Given the description of an element on the screen output the (x, y) to click on. 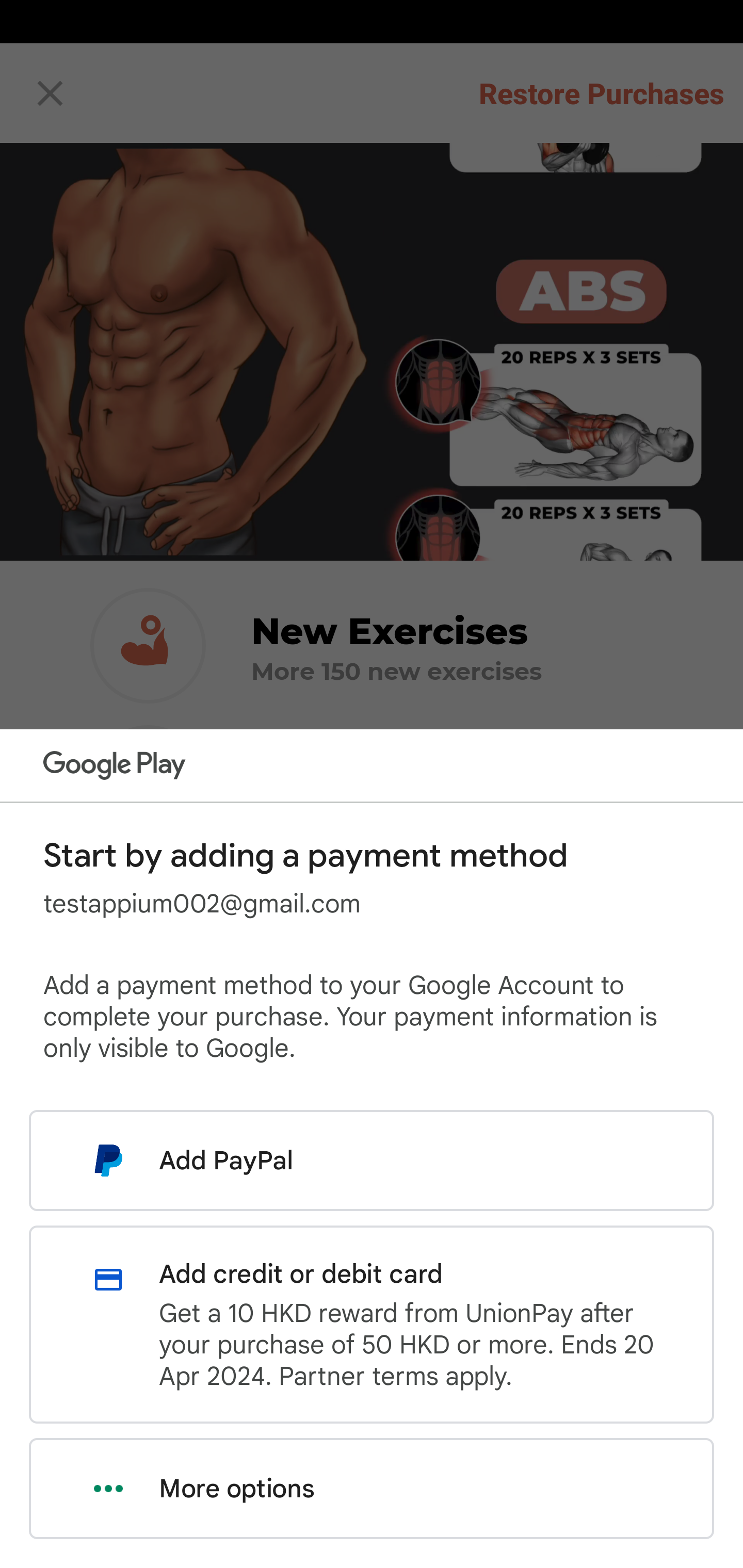
Add PayPal (371, 1160)
More options (371, 1488)
